Given the description of an element on the screen output the (x, y) to click on. 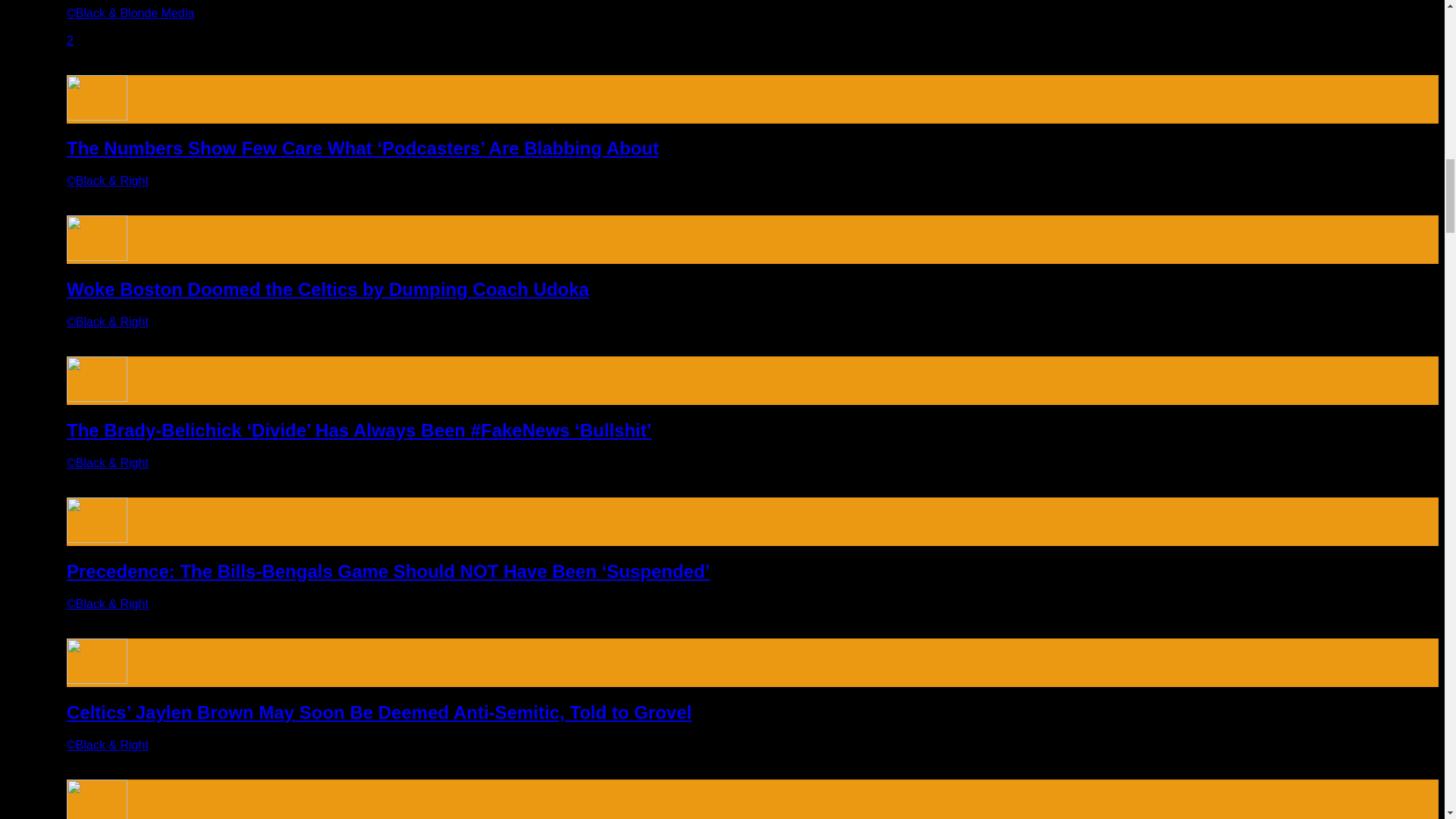
2 (70, 39)
